Given the description of an element on the screen output the (x, y) to click on. 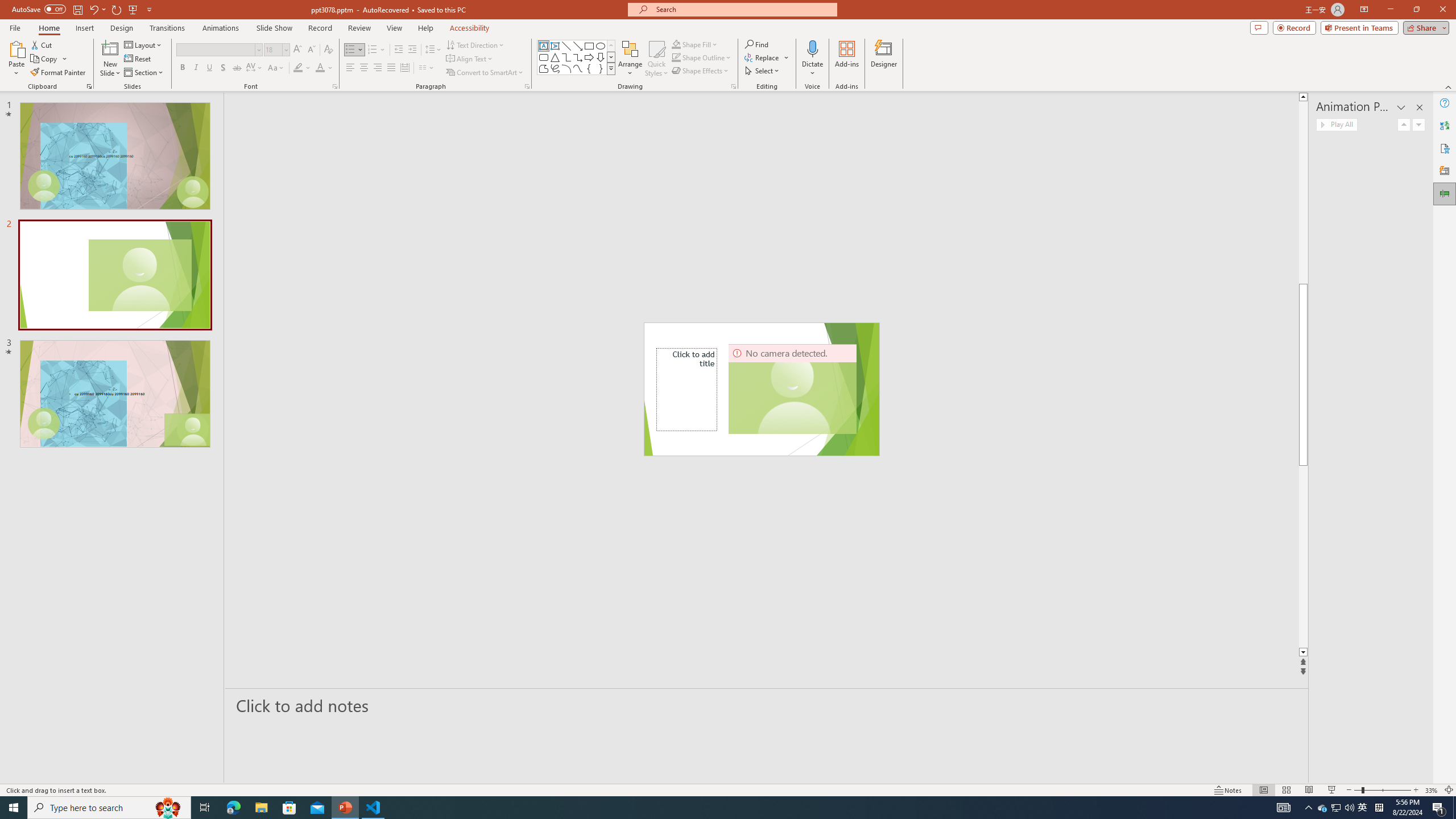
Animation Pane (1444, 193)
